Given the description of an element on the screen output the (x, y) to click on. 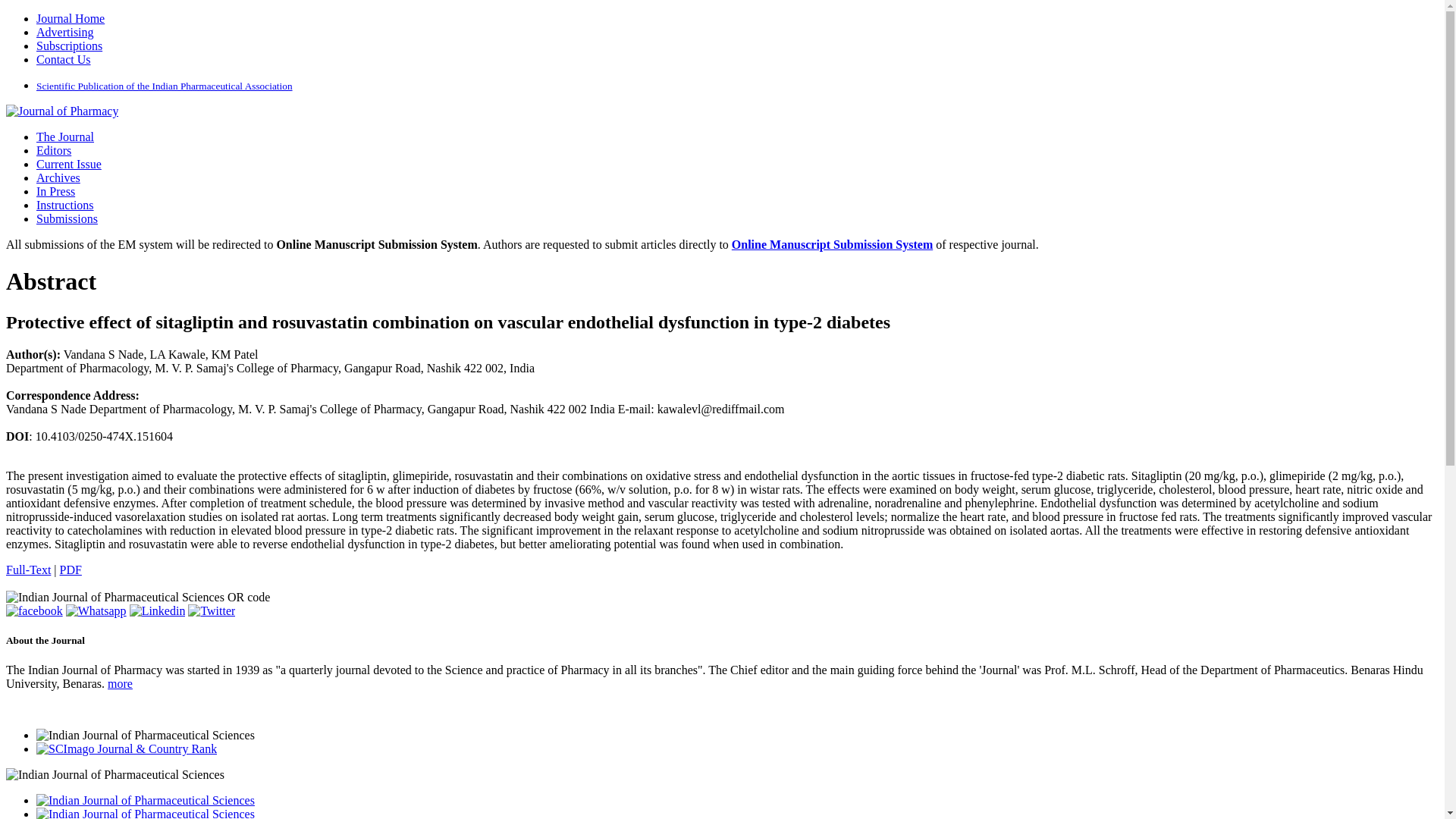
Full-Text (27, 569)
PDF (70, 569)
Indian Journal of Pharmaceutical Sciences (61, 110)
Contact Us (63, 59)
PDF (70, 569)
Archives (58, 177)
Instructions (65, 205)
Current Issue (68, 164)
Online Submission (66, 218)
Current Issue (68, 164)
Subscriptions (68, 45)
Archives (58, 177)
QR (137, 597)
Submissions (66, 218)
